Given the description of an element on the screen output the (x, y) to click on. 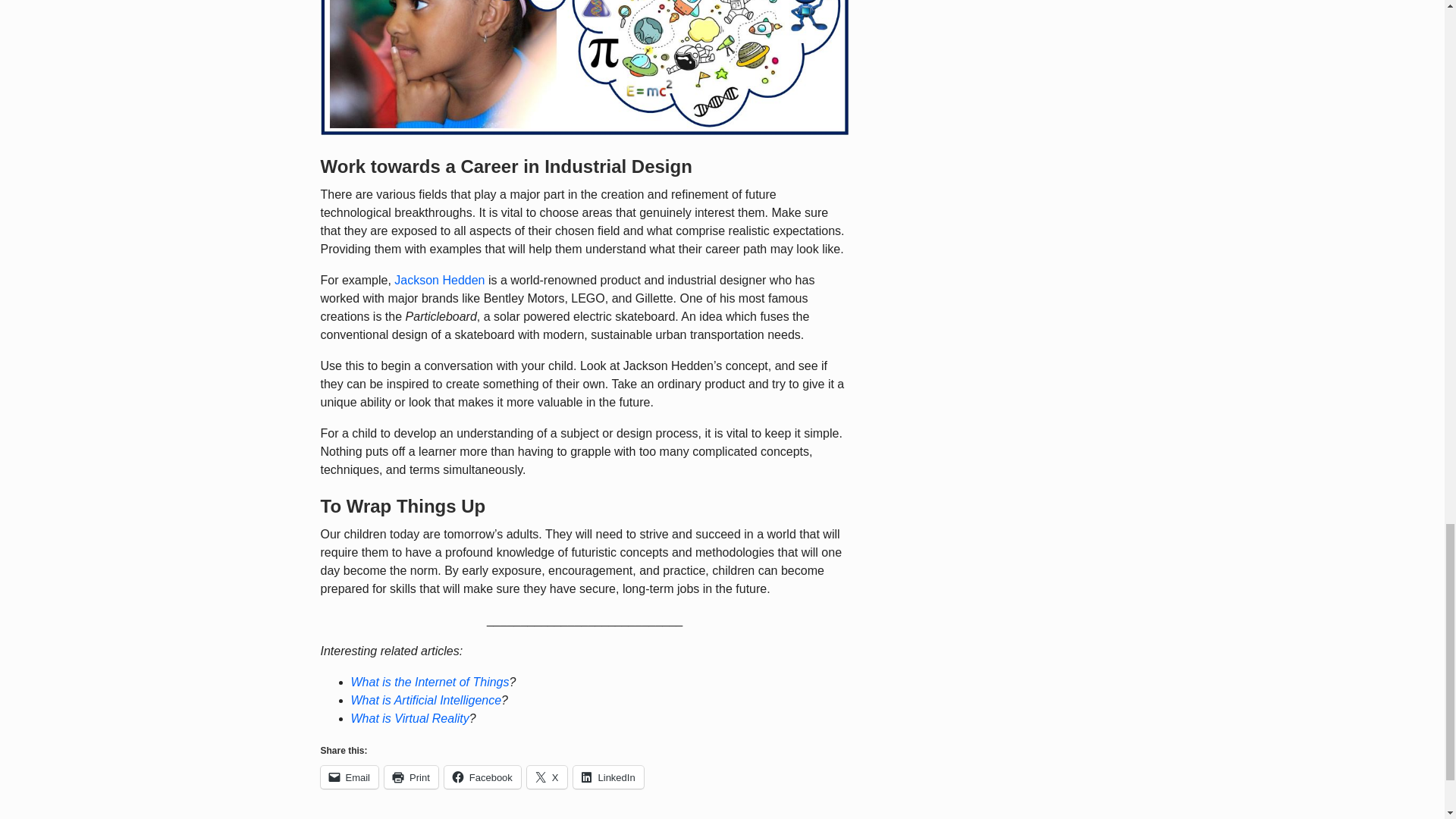
Email (349, 776)
Click to share on LinkedIn (608, 776)
Click to share on X (547, 776)
Jackson Hedden (439, 279)
What is Virtual Reality (409, 717)
What is the Internet of Things (429, 681)
Click to share on Facebook (482, 776)
LinkedIn (608, 776)
Print (411, 776)
What is Artificial Intelligence (425, 699)
